Given the description of an element on the screen output the (x, y) to click on. 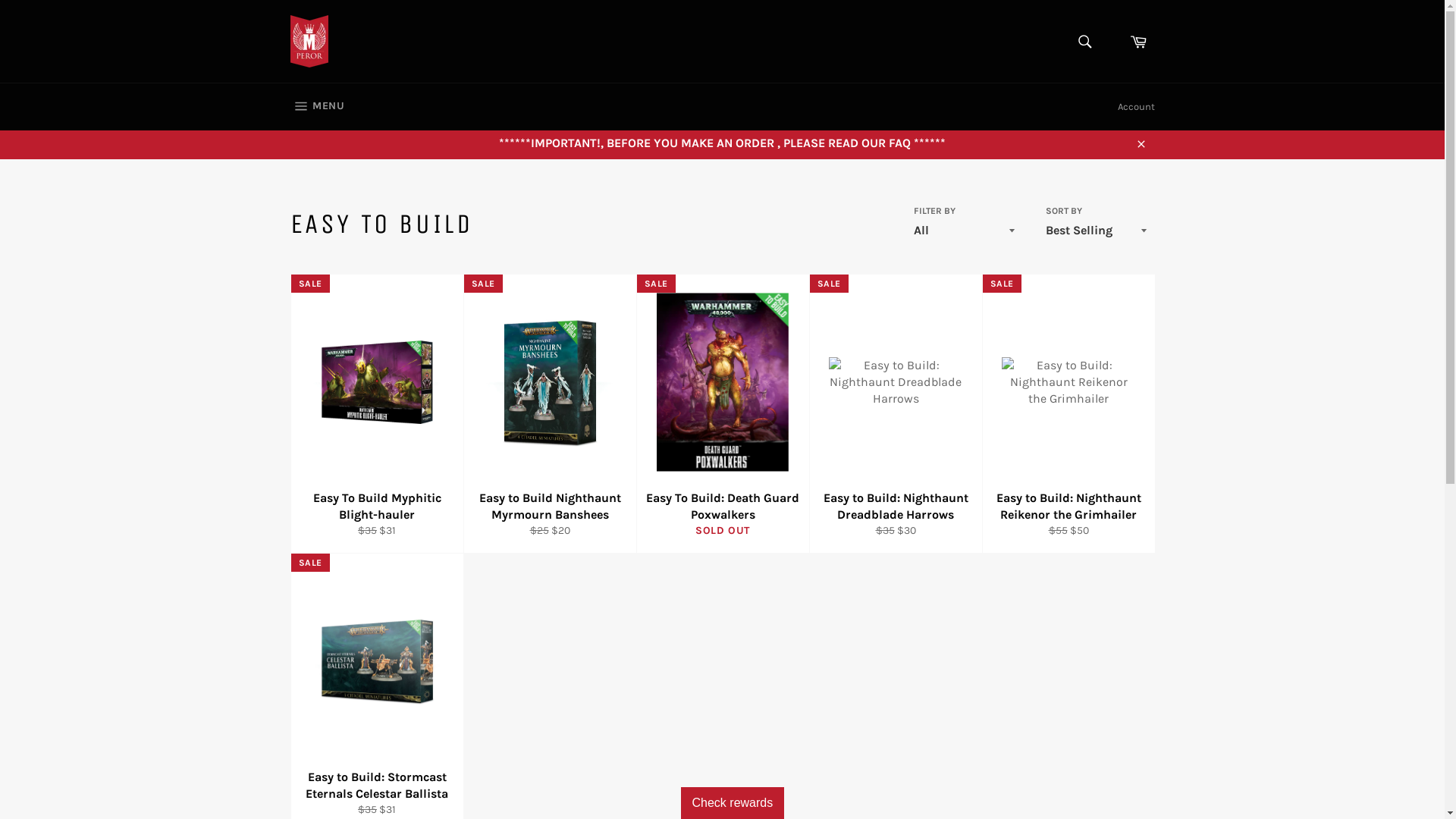
Easy To Build: Death Guard Poxwalkers
SOLD OUT
SALE Element type: text (721, 413)
Account Element type: text (1136, 106)
Search Element type: text (1083, 41)
Close Element type: text (1139, 143)
MENU
SITE NAVIGATION Element type: text (316, 106)
Cart Element type: text (1138, 41)
